Given the description of an element on the screen output the (x, y) to click on. 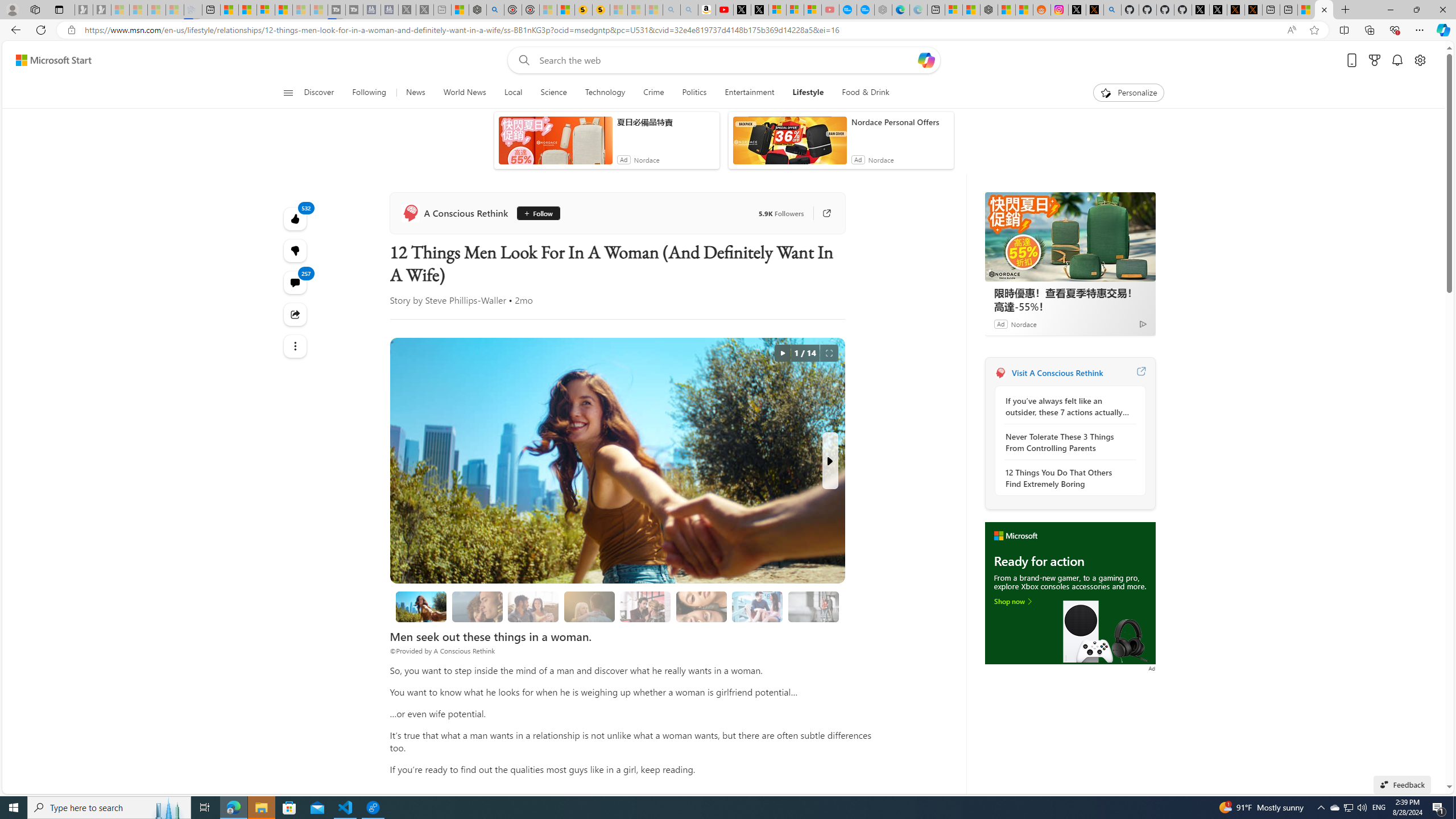
Web search (520, 60)
3. She is appreciative. (588, 606)
Log in to X / X (1076, 9)
Full screen (828, 352)
4. She is supportive. (645, 606)
X - Sleeping (424, 9)
2. She is accepting. (533, 606)
Day 1: Arriving in Yemen (surreal to be here) - YouTube (724, 9)
World News (464, 92)
anim-content (789, 144)
